Given the description of an element on the screen output the (x, y) to click on. 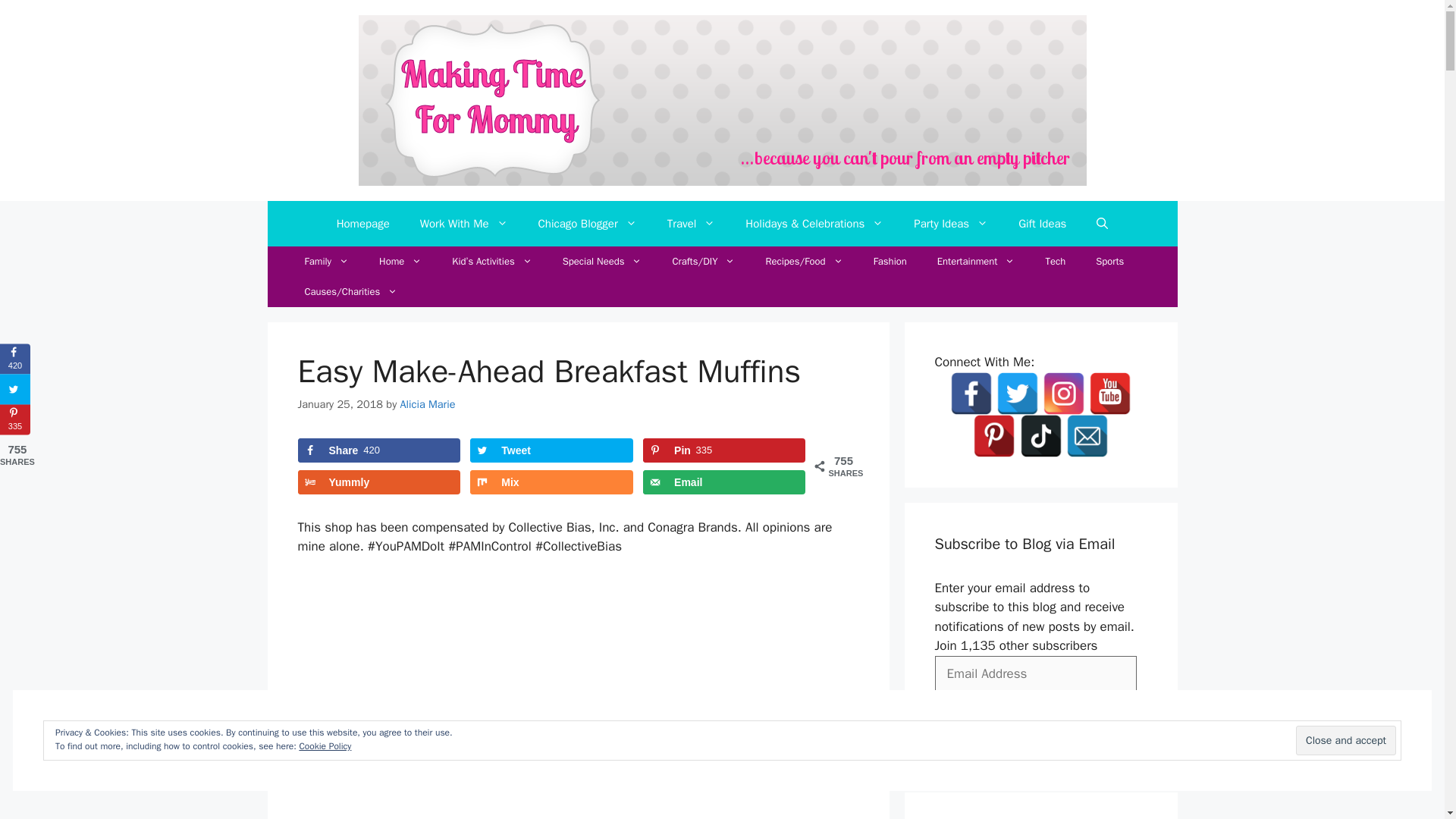
Save to Pinterest (724, 450)
Share on Facebook (378, 450)
Send over email (724, 482)
Share on Yummly (378, 482)
Close and accept (1345, 740)
Travel (691, 223)
Making Time for Mommy (722, 99)
Work With Me (463, 223)
Chicago Blogger (587, 223)
Homepage (362, 223)
